Given the description of an element on the screen output the (x, y) to click on. 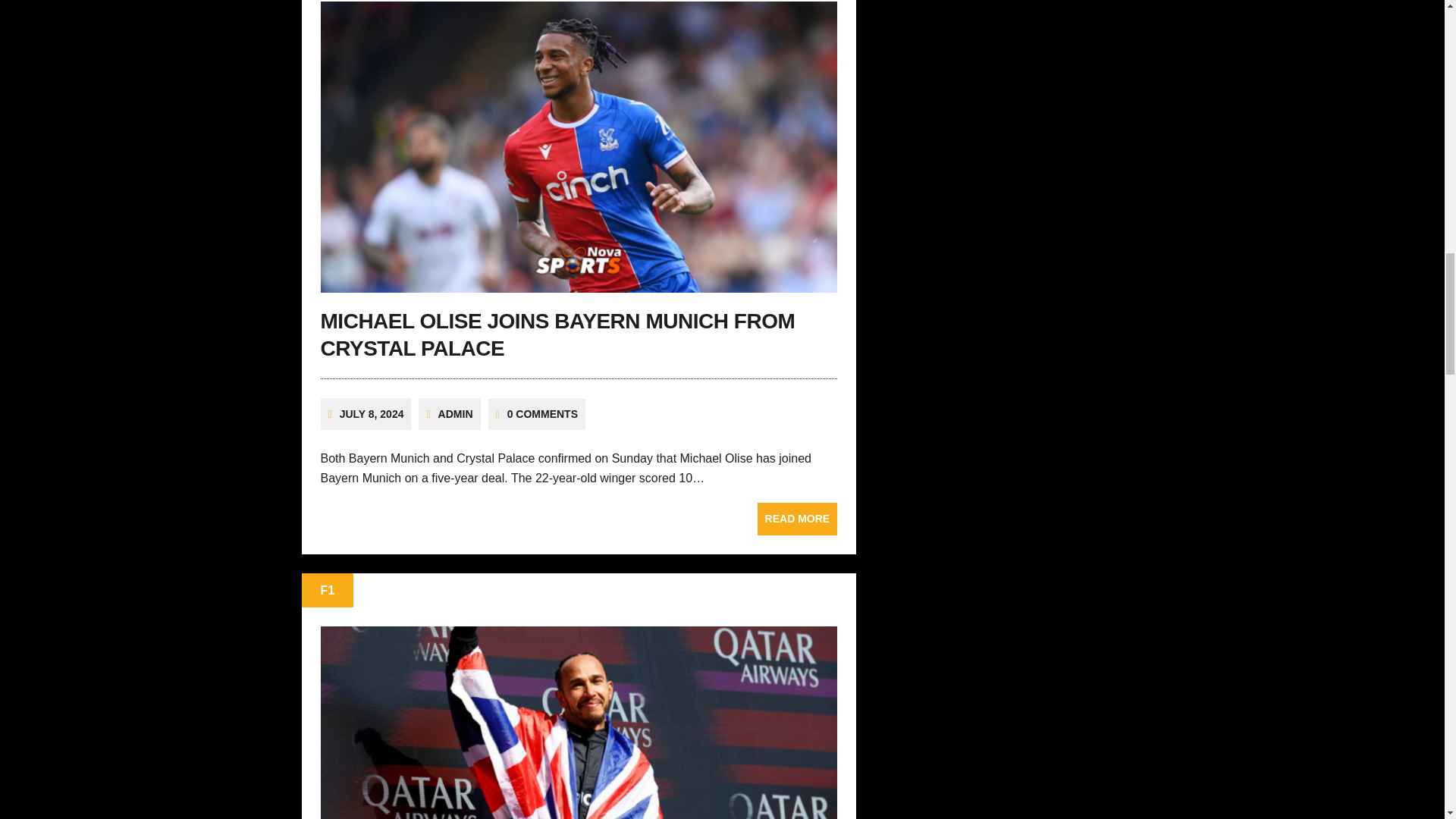
JULY 8, 2024 (371, 413)
Michael Olise Joins Bayern Munich from Crystal Palace (578, 282)
READ MORE (797, 518)
ADMIN (455, 413)
Michael Olise Joins Bayern Munich from Crystal Palace (557, 334)
MICHAEL OLISE JOINS BAYERN MUNICH FROM CRYSTAL PALACE (557, 334)
Michael Olise Joins Bayern Munich from Crystal Palace (797, 518)
